Given the description of an element on the screen output the (x, y) to click on. 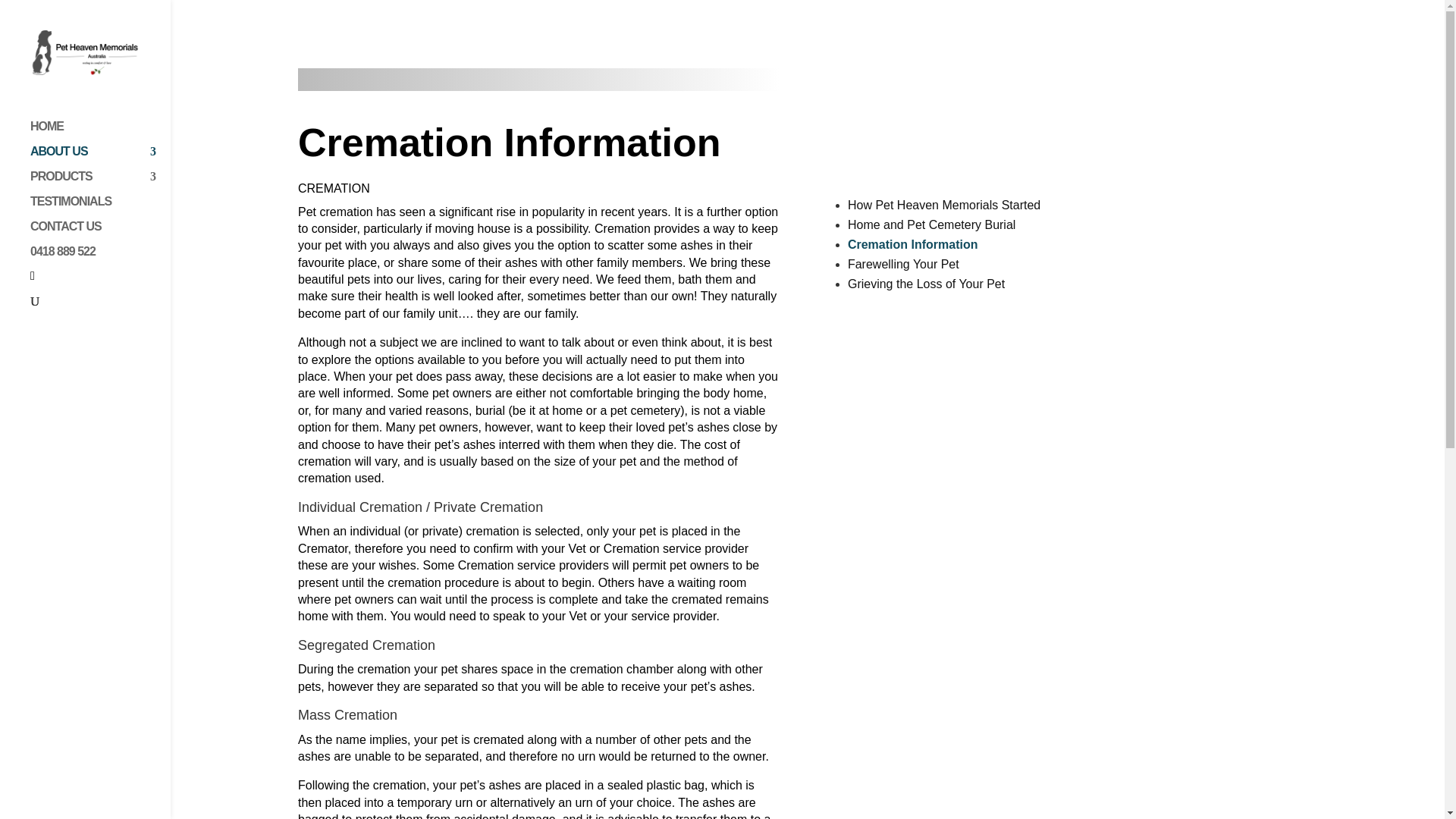
ABOUT US (100, 158)
How Pet Heaven Memorials Started (944, 205)
HOME (100, 133)
Cremation Information (912, 244)
Grieving the Loss of Your Pet (925, 283)
0418 889 522 (100, 258)
CONTACT US (100, 233)
PRODUCTS (100, 183)
Farewelling Your Pet (903, 264)
Home and Pet Cemetery Burial (930, 224)
